Given the description of an element on the screen output the (x, y) to click on. 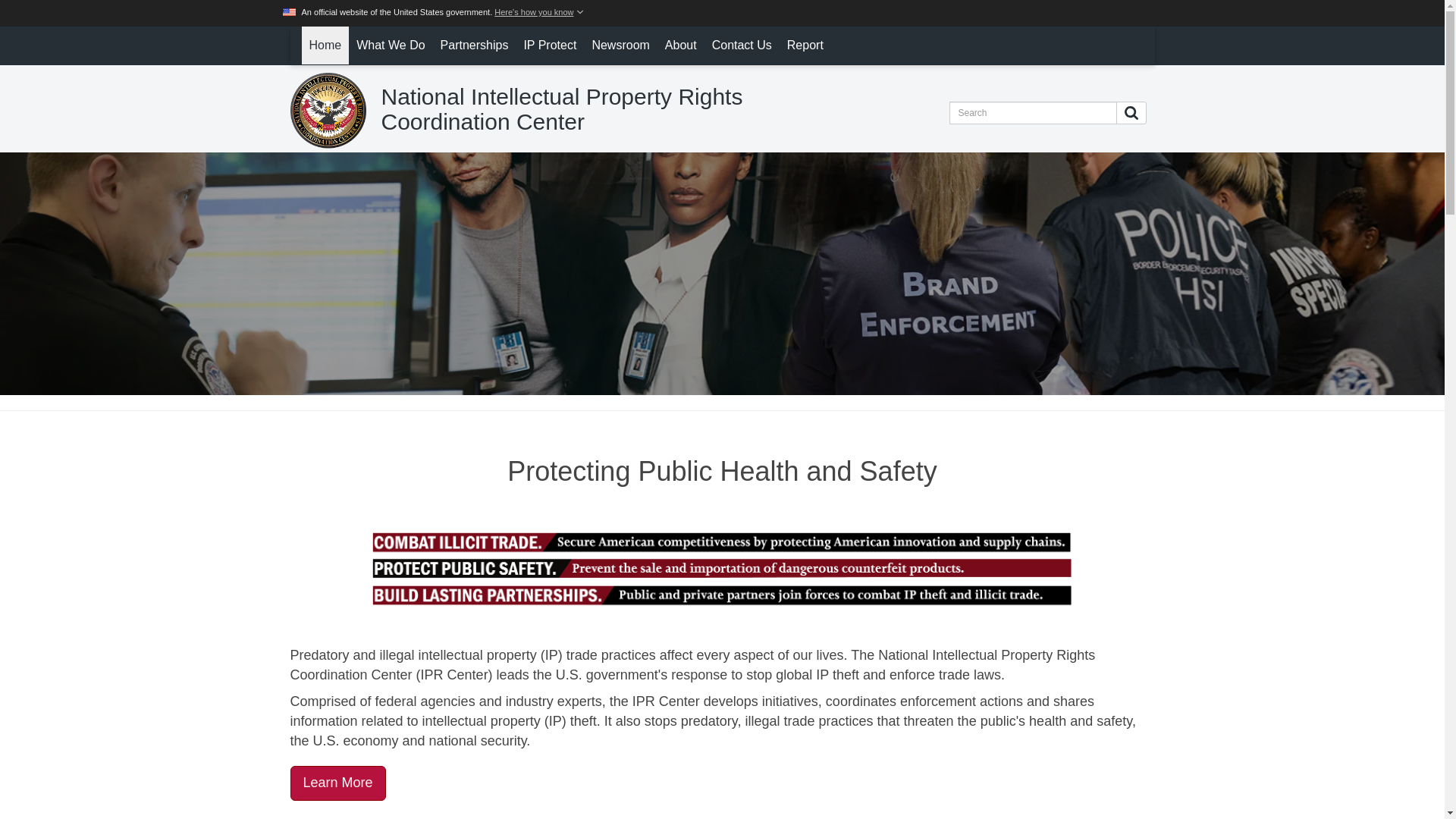
Report (804, 45)
Contact Us (741, 45)
Partnerships (474, 45)
Learn More (337, 782)
IP Protect (549, 45)
About (681, 45)
Home (325, 45)
An official website of the United States government (433, 11)
Newsroom (619, 45)
What We Do (390, 45)
